Given the description of an element on the screen output the (x, y) to click on. 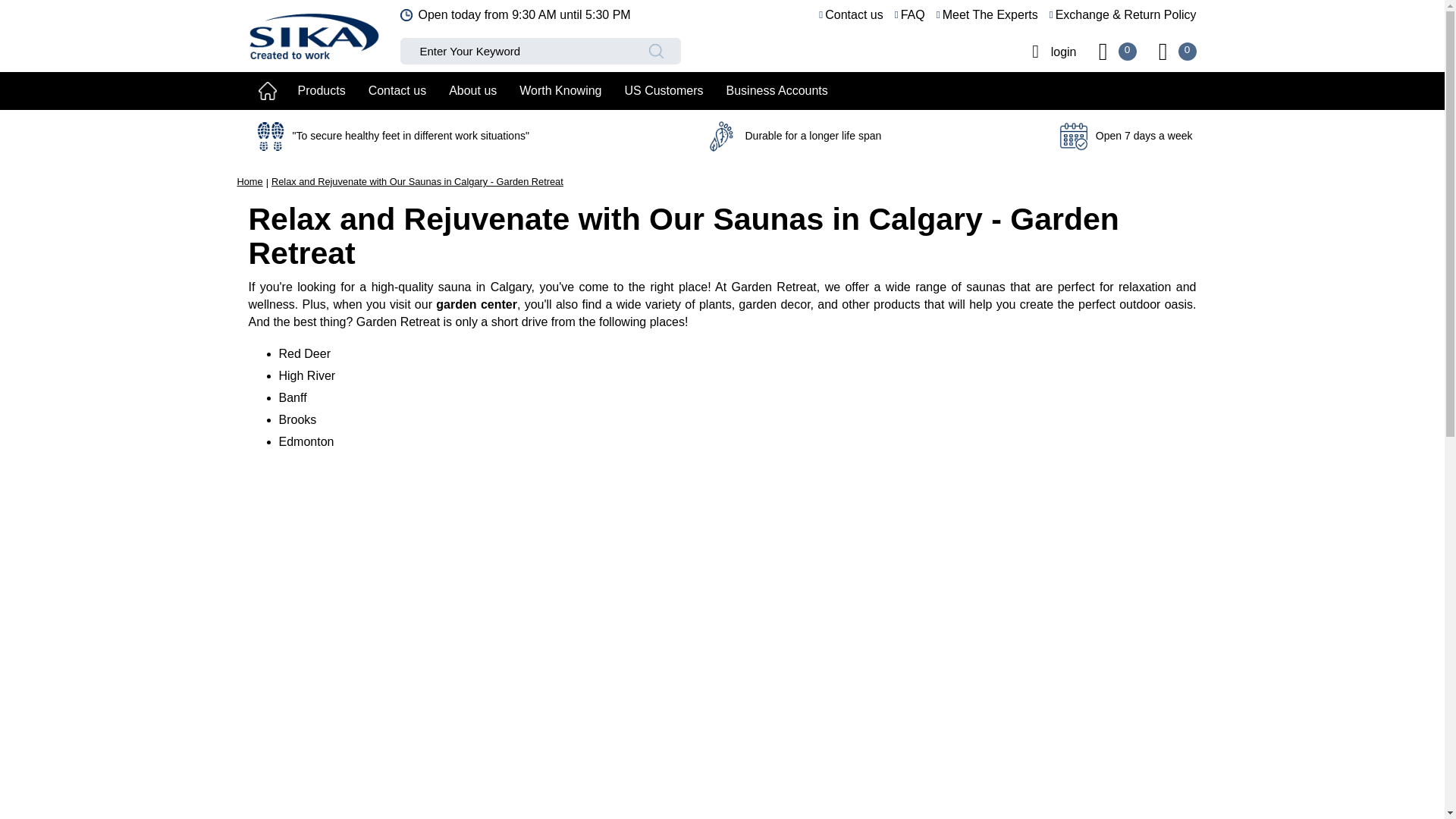
Categories (321, 90)
login (1048, 51)
Meet The Experts (987, 14)
FAQ (909, 14)
Red Deer (304, 353)
Home (248, 182)
Products (321, 90)
Contact us (850, 14)
Go to the shopping cart (1162, 51)
